Given the description of an element on the screen output the (x, y) to click on. 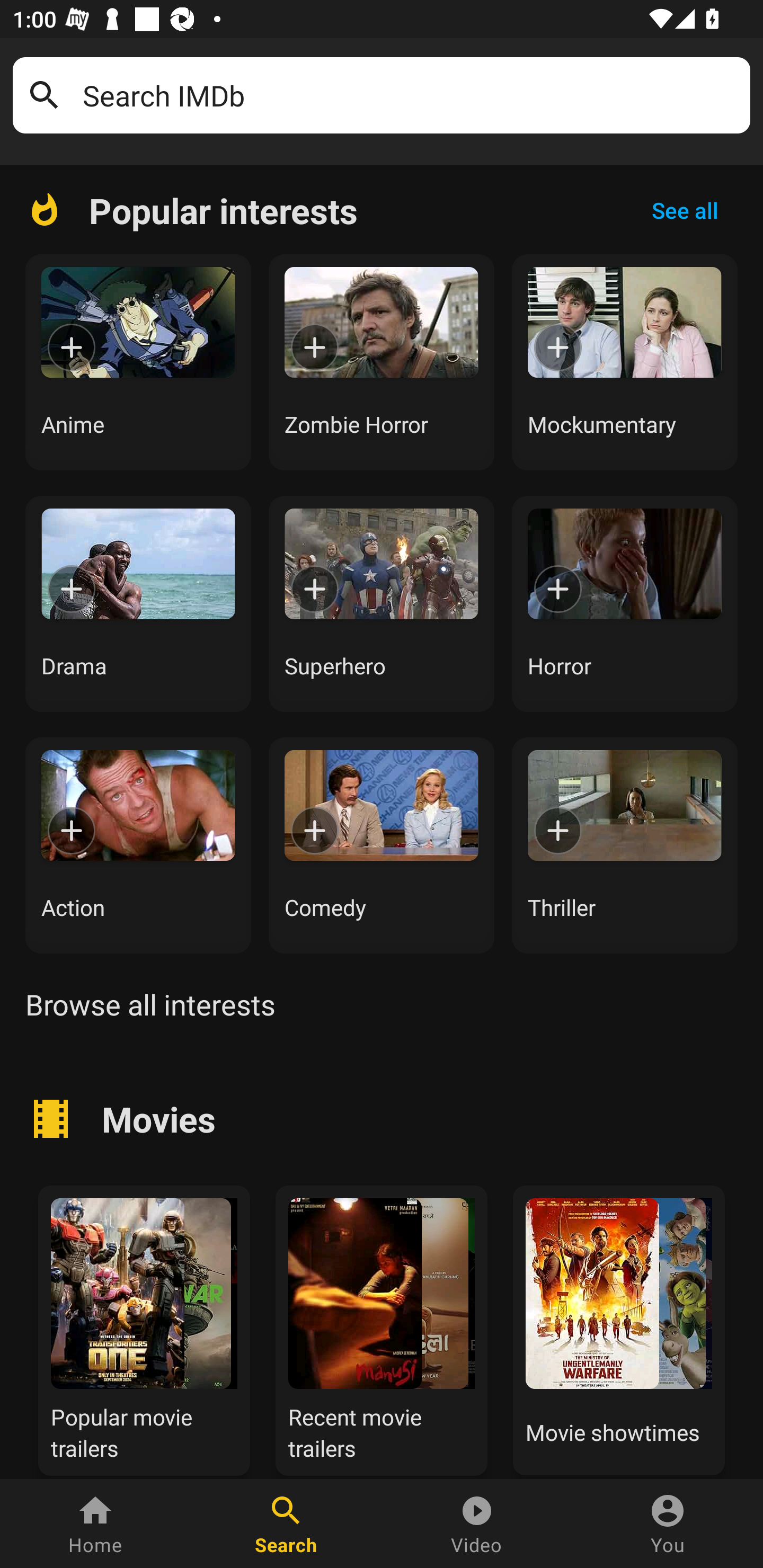
Search IMDb (410, 95)
See all (684, 209)
Anime (138, 361)
Zombie Horror (381, 361)
Mockumentary (624, 361)
Drama (138, 603)
Superhero (381, 603)
Horror (624, 603)
Action (138, 844)
Comedy (381, 844)
Thriller (624, 844)
Browse all interests (150, 1003)
Popular movie trailers (144, 1327)
Recent movie trailers (381, 1327)
Movie showtimes (618, 1327)
Home (95, 1523)
Video (476, 1523)
You (667, 1523)
